Given the description of an element on the screen output the (x, y) to click on. 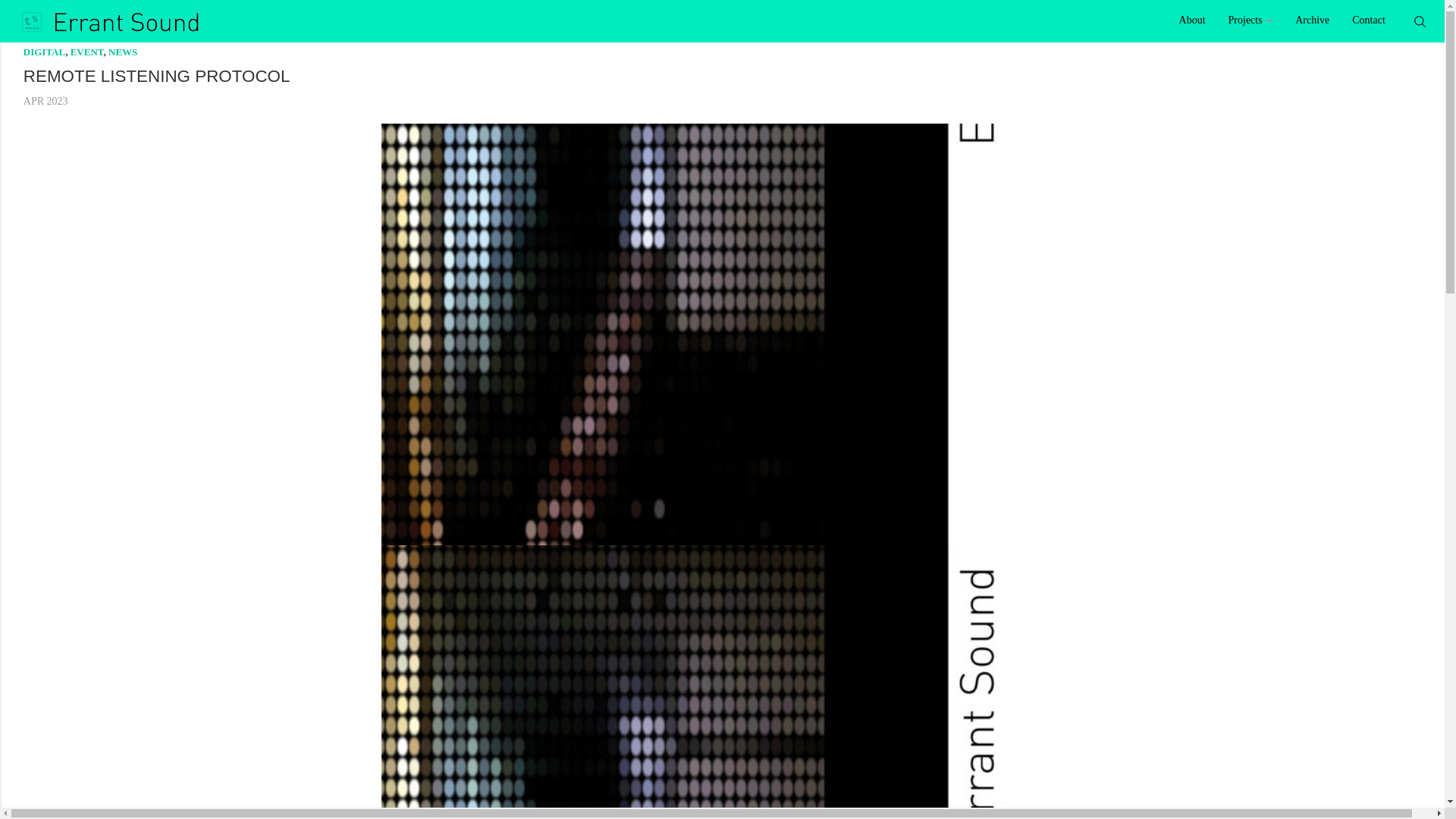
About (1192, 18)
EVENT (86, 51)
Projects (1250, 18)
Contact (1368, 18)
DIGITAL (44, 51)
Contact (1368, 18)
Archive (1312, 18)
About (1192, 18)
Archive (1312, 18)
Projects (1250, 18)
NEWS (121, 51)
